Given the description of an element on the screen output the (x, y) to click on. 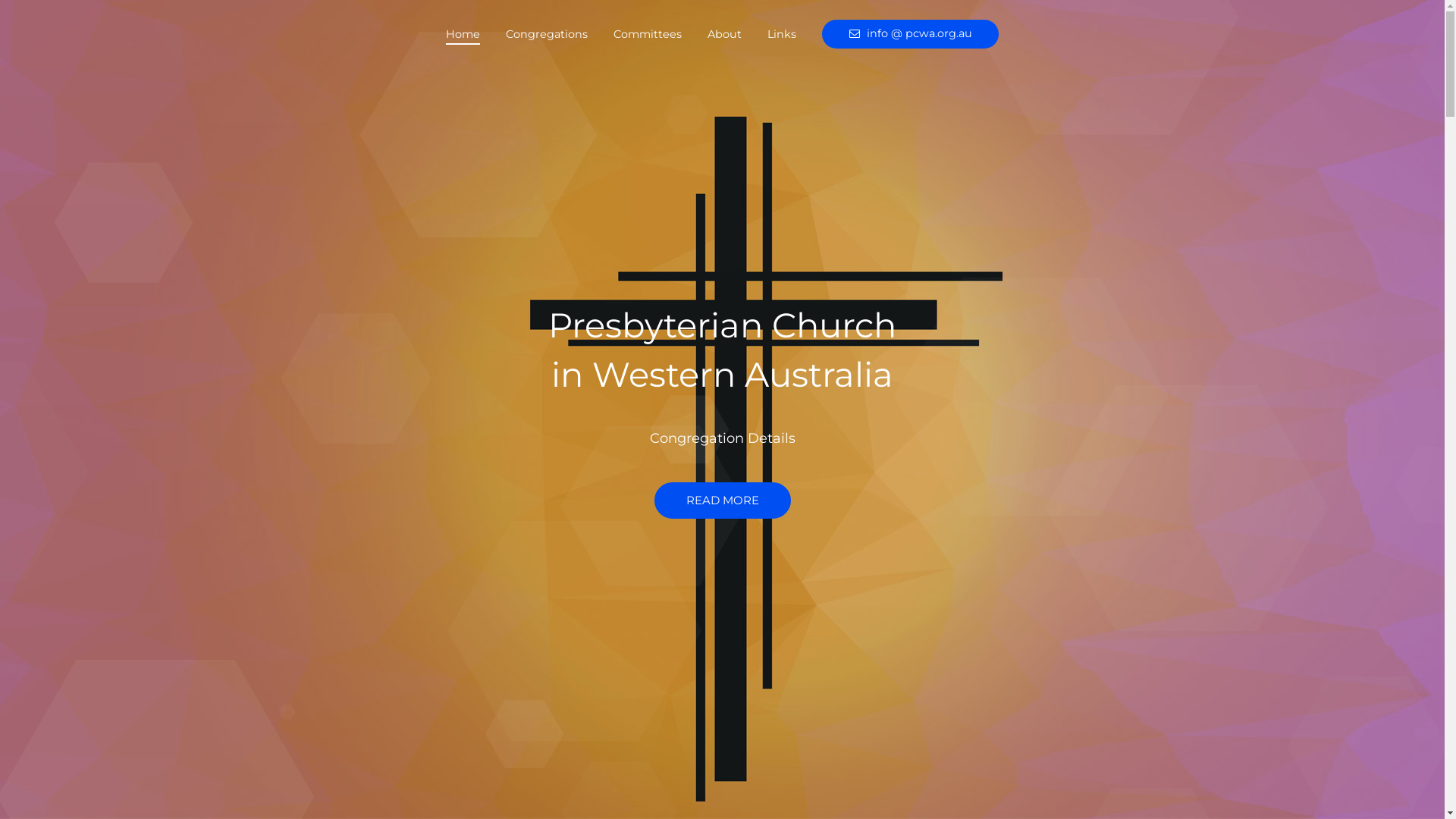
About Element type: text (724, 34)
Home Element type: text (462, 34)
PresData Services Element type: text (1109, 730)
office use only Element type: text (1127, 698)
Links Element type: text (781, 34)
Find a Presbyterian Church in PresKey Element type: text (1050, 764)
READ MORE Element type: text (721, 500)
info @ pcwa.org.au Element type: text (909, 33)
Committees Element type: text (647, 34)
Congregations Element type: text (546, 34)
